Given the description of an element on the screen output the (x, y) to click on. 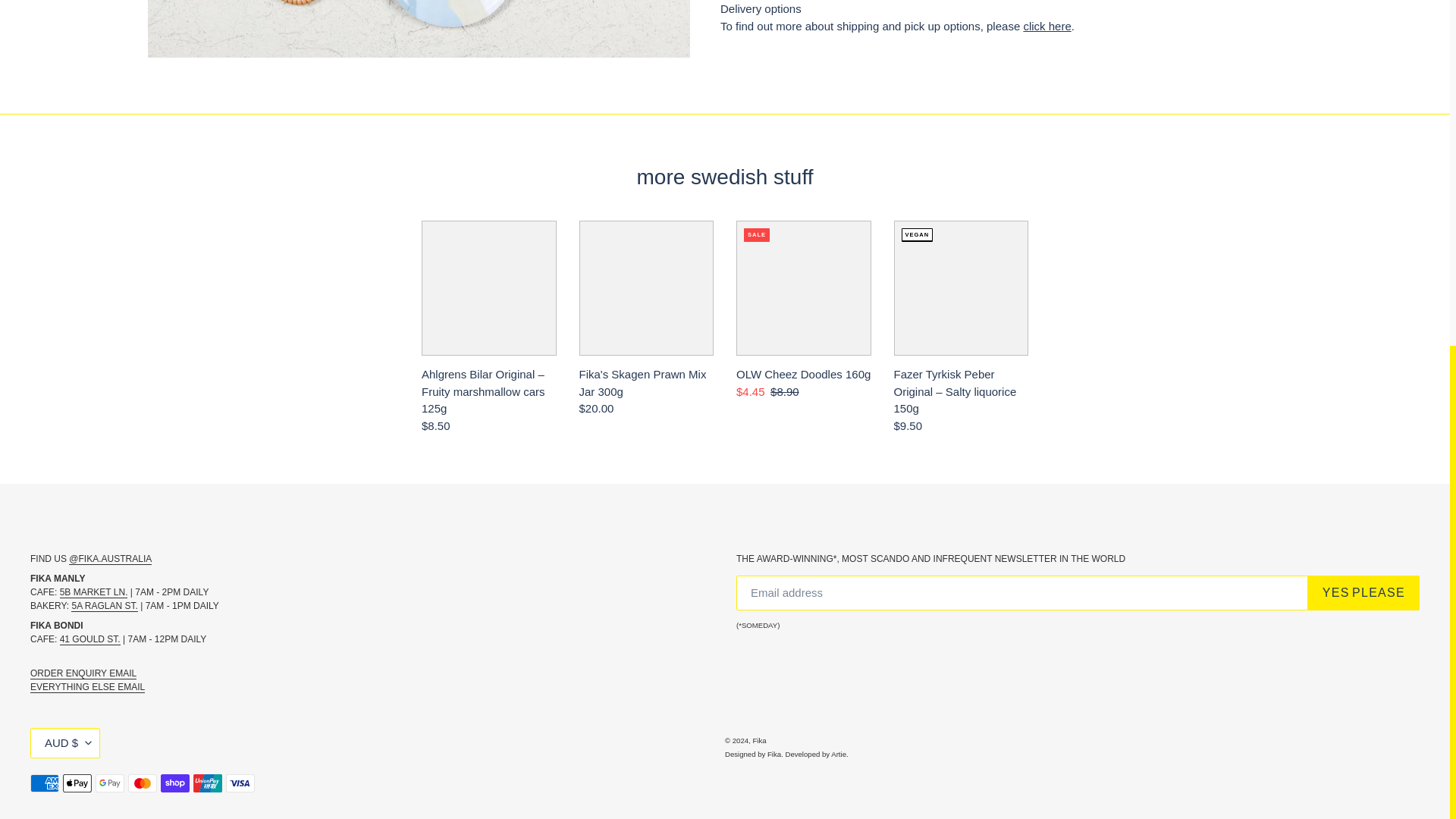
Fika's Shipping options (1046, 25)
